Given the description of an element on the screen output the (x, y) to click on. 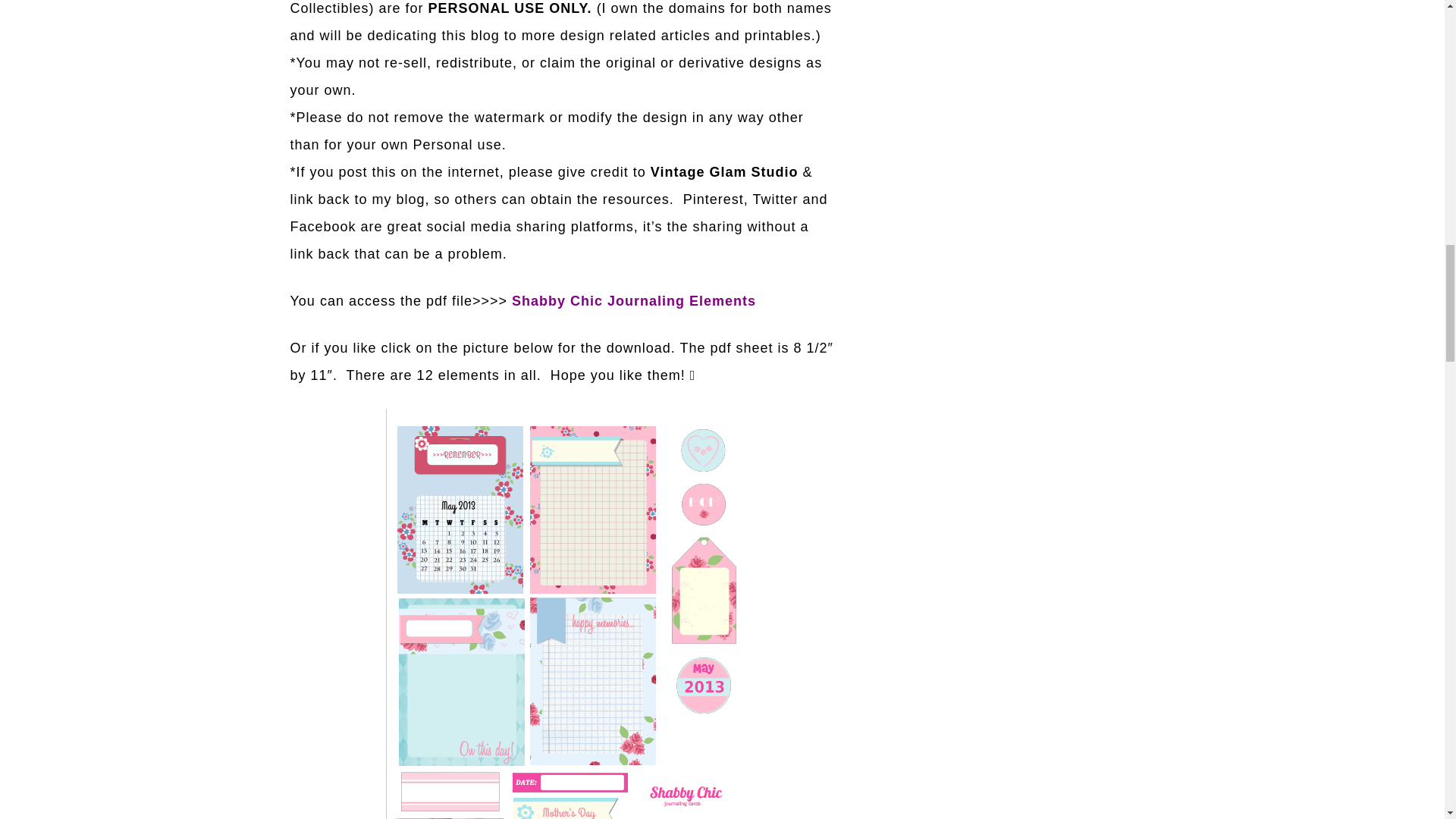
Shabby Chic Journaling Elements (633, 300)
